Given the description of an element on the screen output the (x, y) to click on. 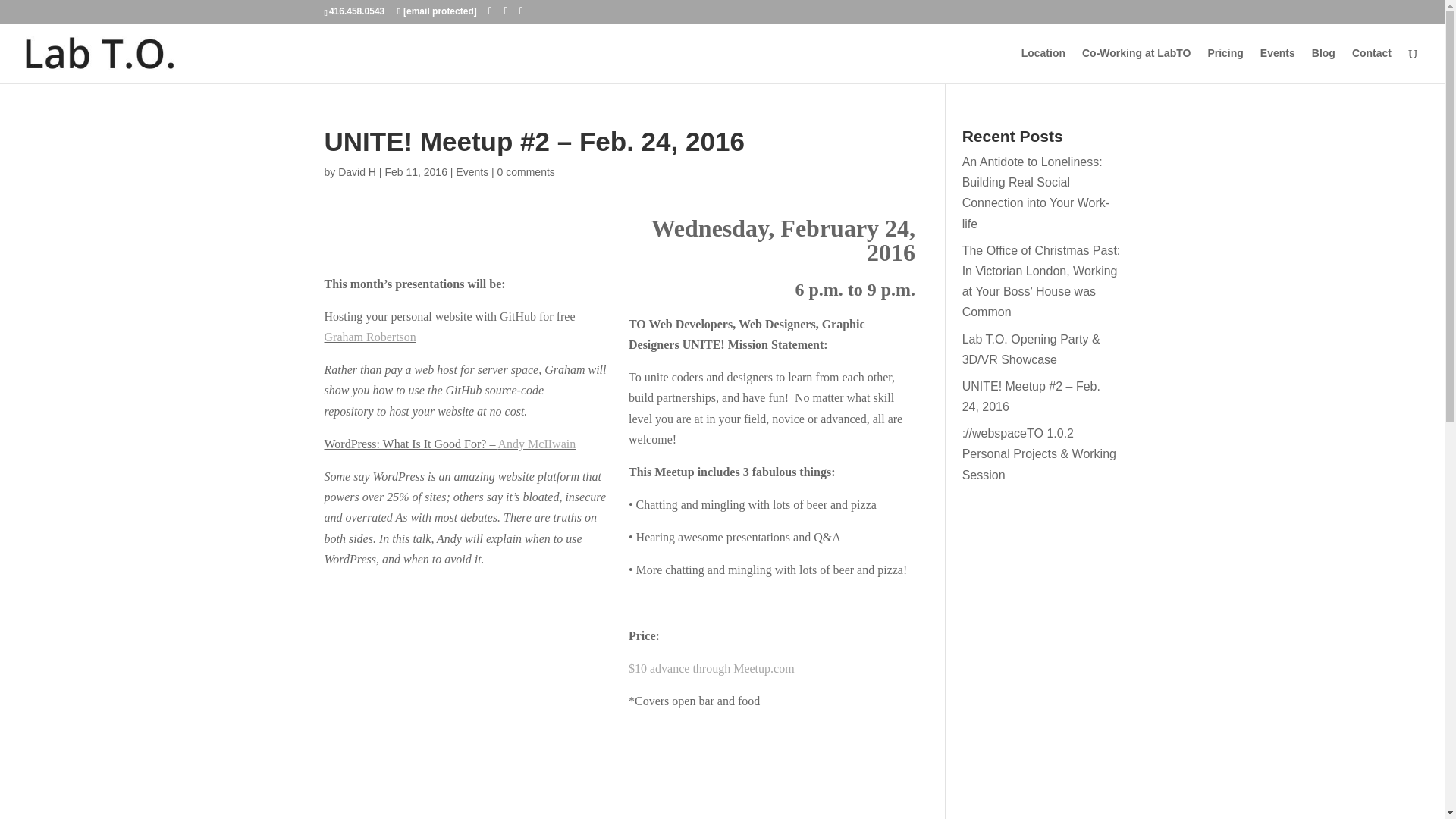
Posts by David H (356, 172)
Location (1043, 65)
Andy McIIwain (536, 443)
Graham Robertson (370, 336)
0 comments (525, 172)
Events (471, 172)
David H (356, 172)
Events (1277, 65)
RSVP HERE (619, 795)
